Given the description of an element on the screen output the (x, y) to click on. 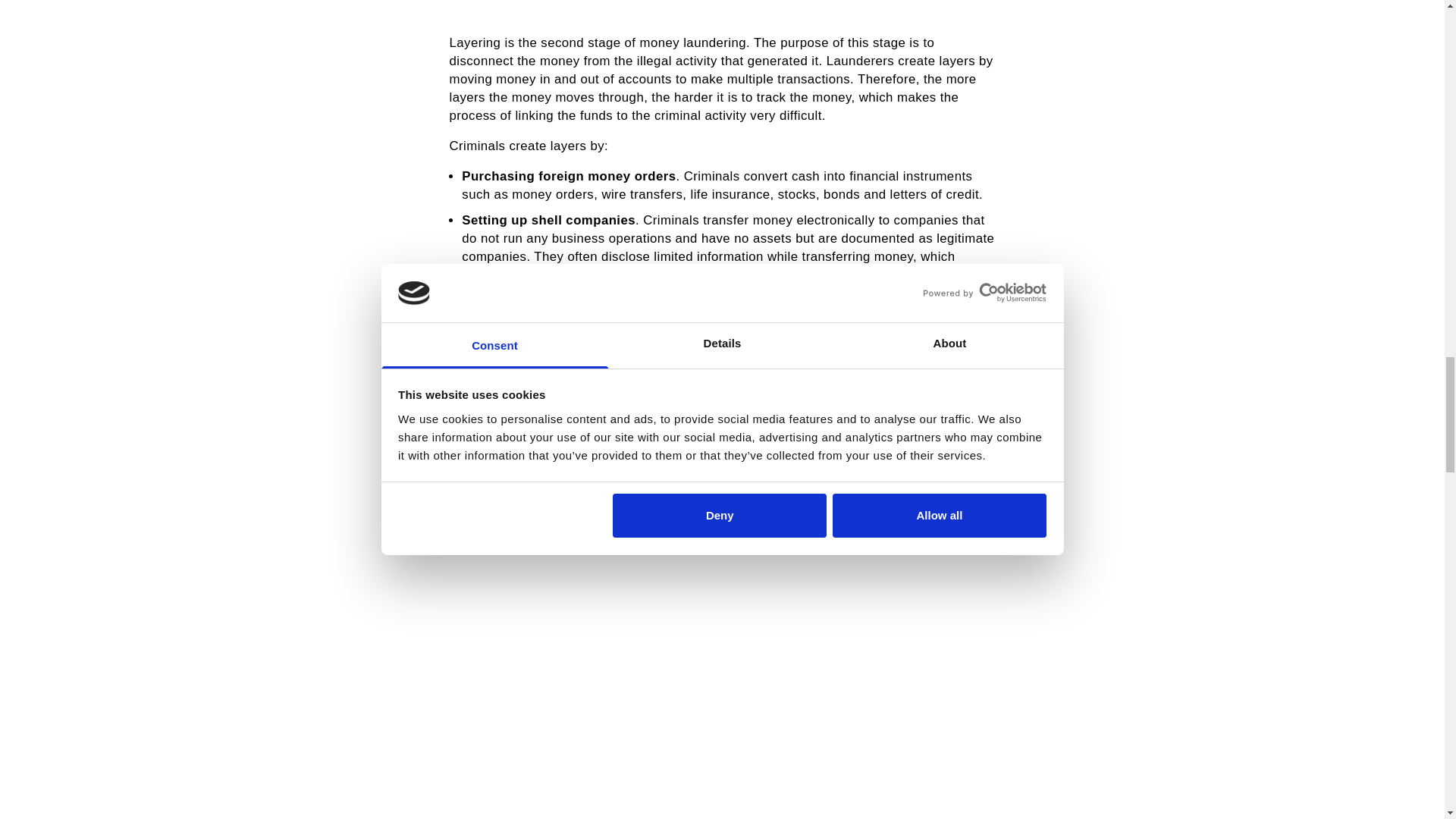
Layering stage of money laundering (721, 7)
